Given the description of an element on the screen output the (x, y) to click on. 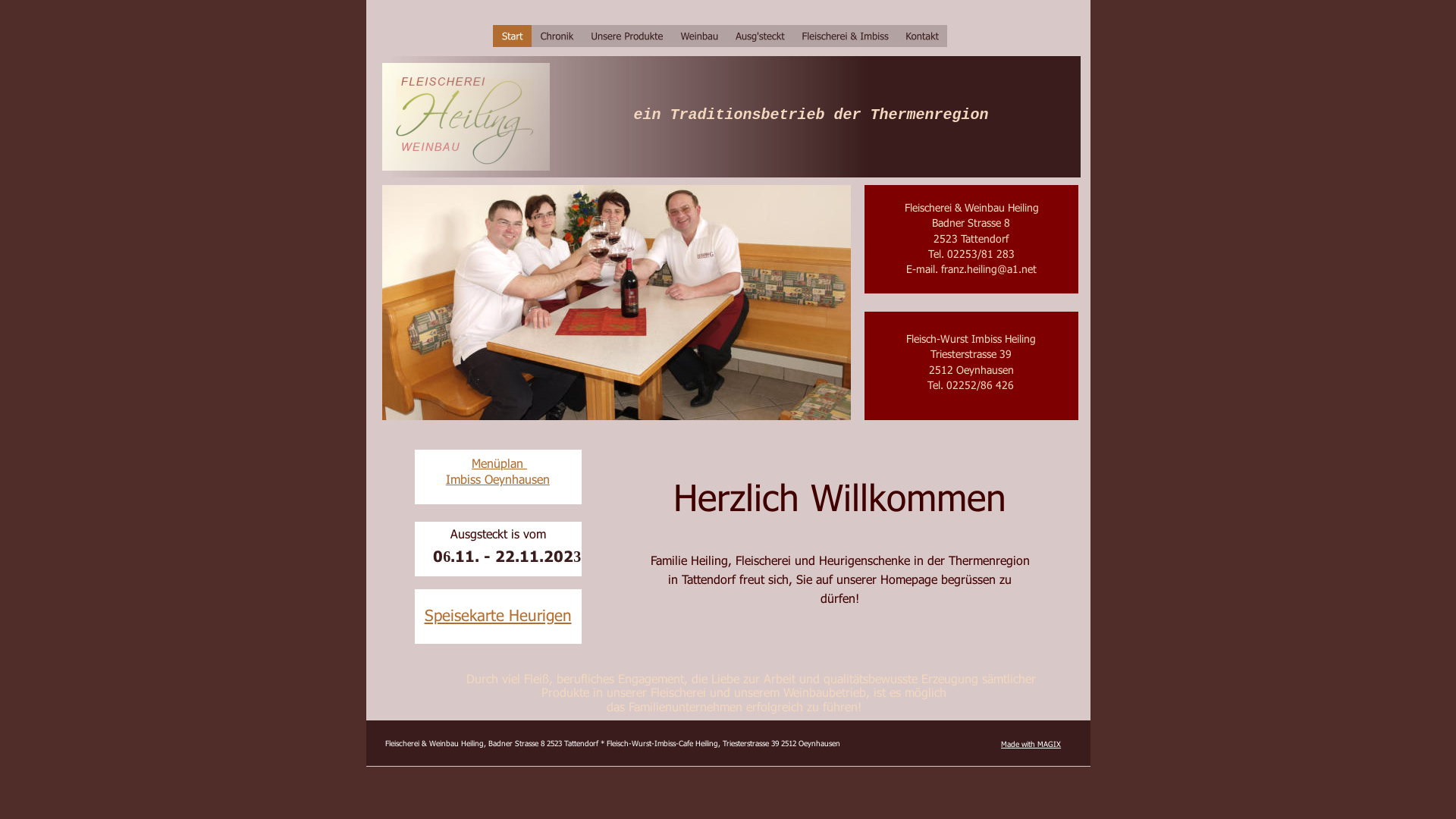
Imbiss Oeynhausen Element type: text (497, 478)
Made with MAGIX Element type: text (1030, 743)
Speisekarte Heurigen Element type: text (497, 614)
